Given the description of an element on the screen output the (x, y) to click on. 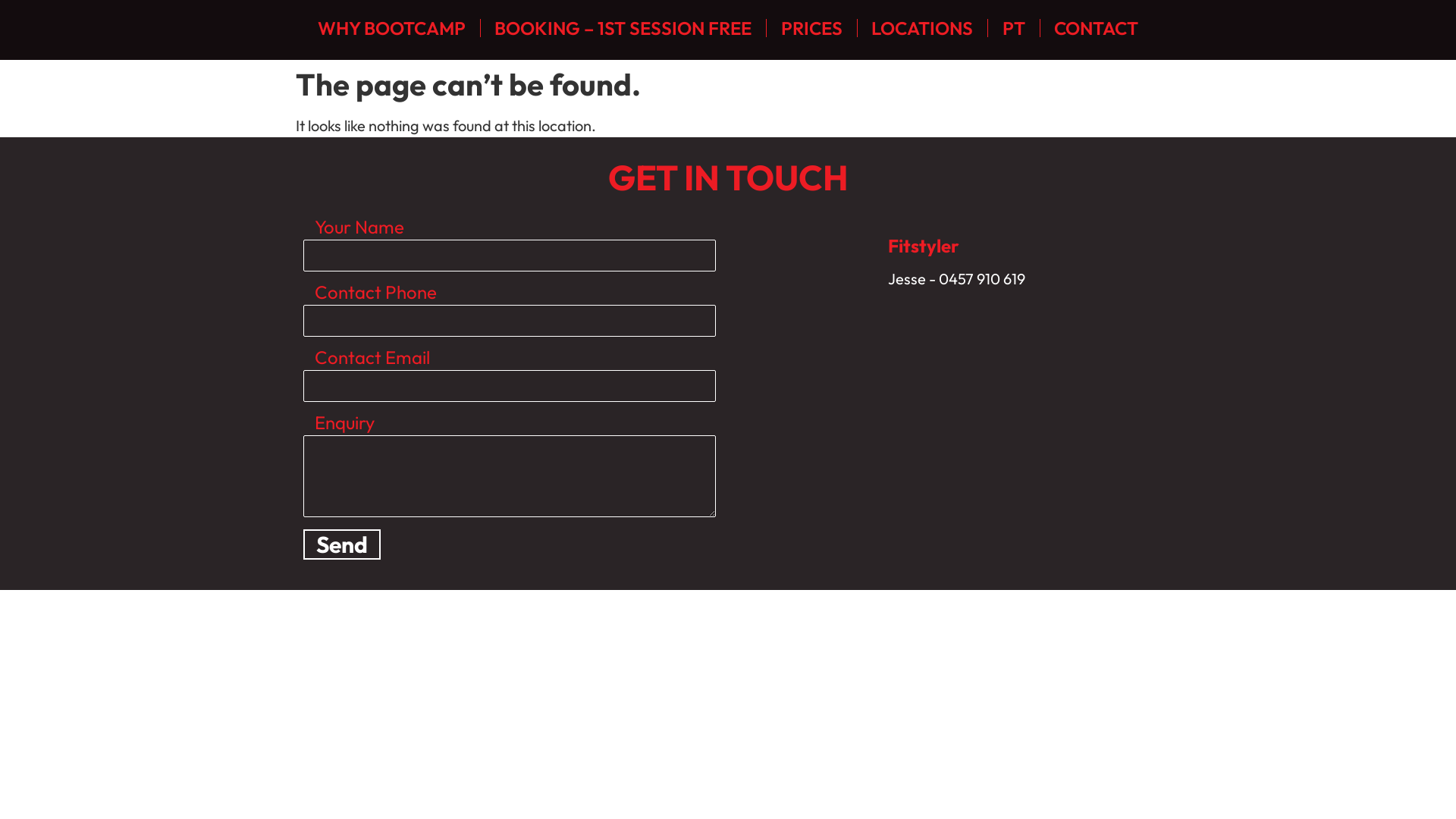
Send Element type: text (341, 544)
LOCATIONS Element type: text (921, 27)
Jesse - 0457 910 619 Element type: text (1020, 278)
PRICES Element type: text (811, 27)
WHY BOOTCAMP Element type: text (391, 27)
CONTACT Element type: text (1096, 27)
PT Element type: text (1013, 27)
